Given the description of an element on the screen output the (x, y) to click on. 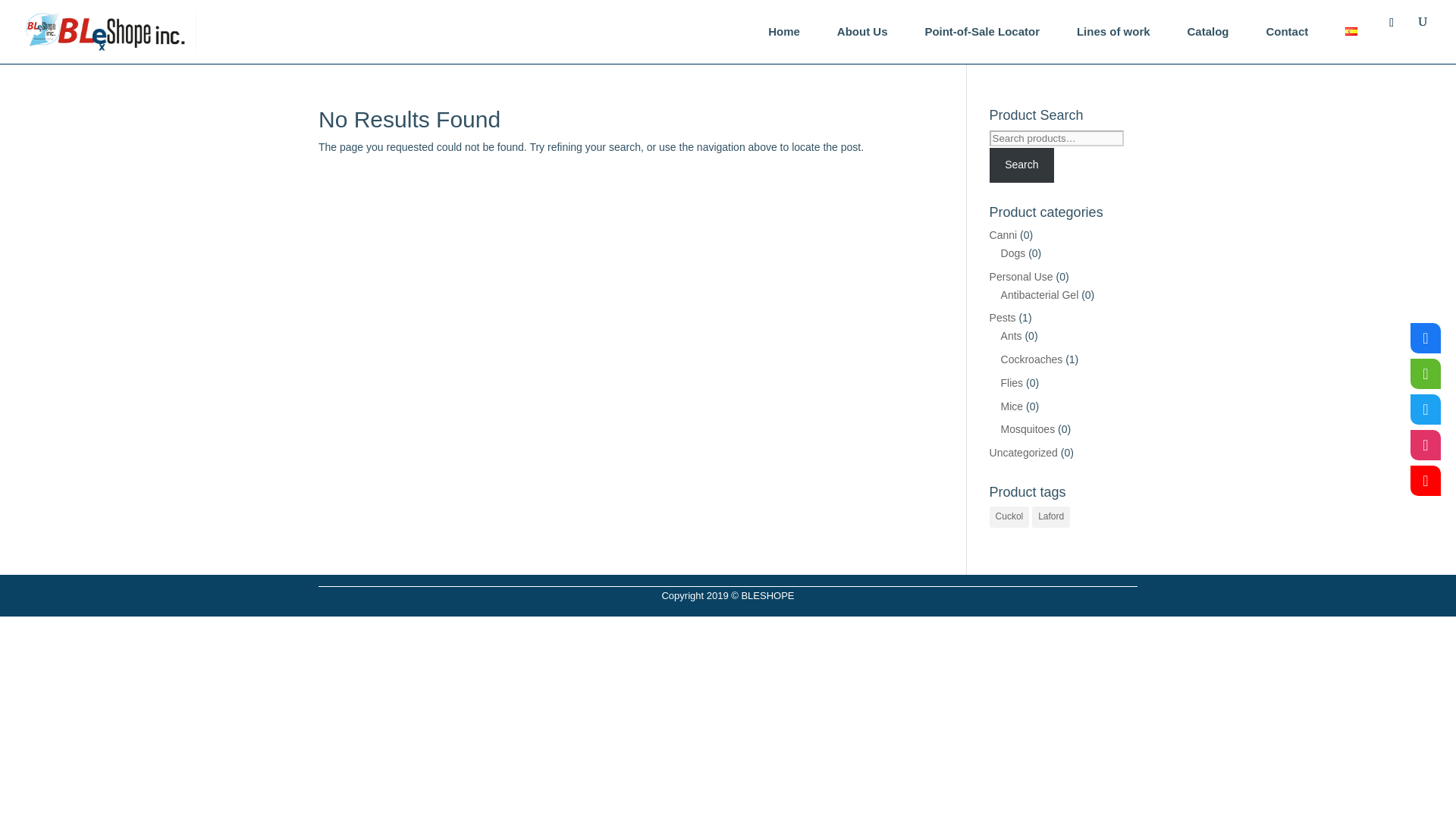
Ants (1011, 336)
Search (1022, 165)
Cockroaches (1031, 358)
Flies (1012, 382)
Personal Use (1021, 276)
Home (783, 31)
Catalog (1208, 31)
Follow us! (1425, 409)
Cuckol (1009, 516)
Mice (1012, 406)
